Given the description of an element on the screen output the (x, y) to click on. 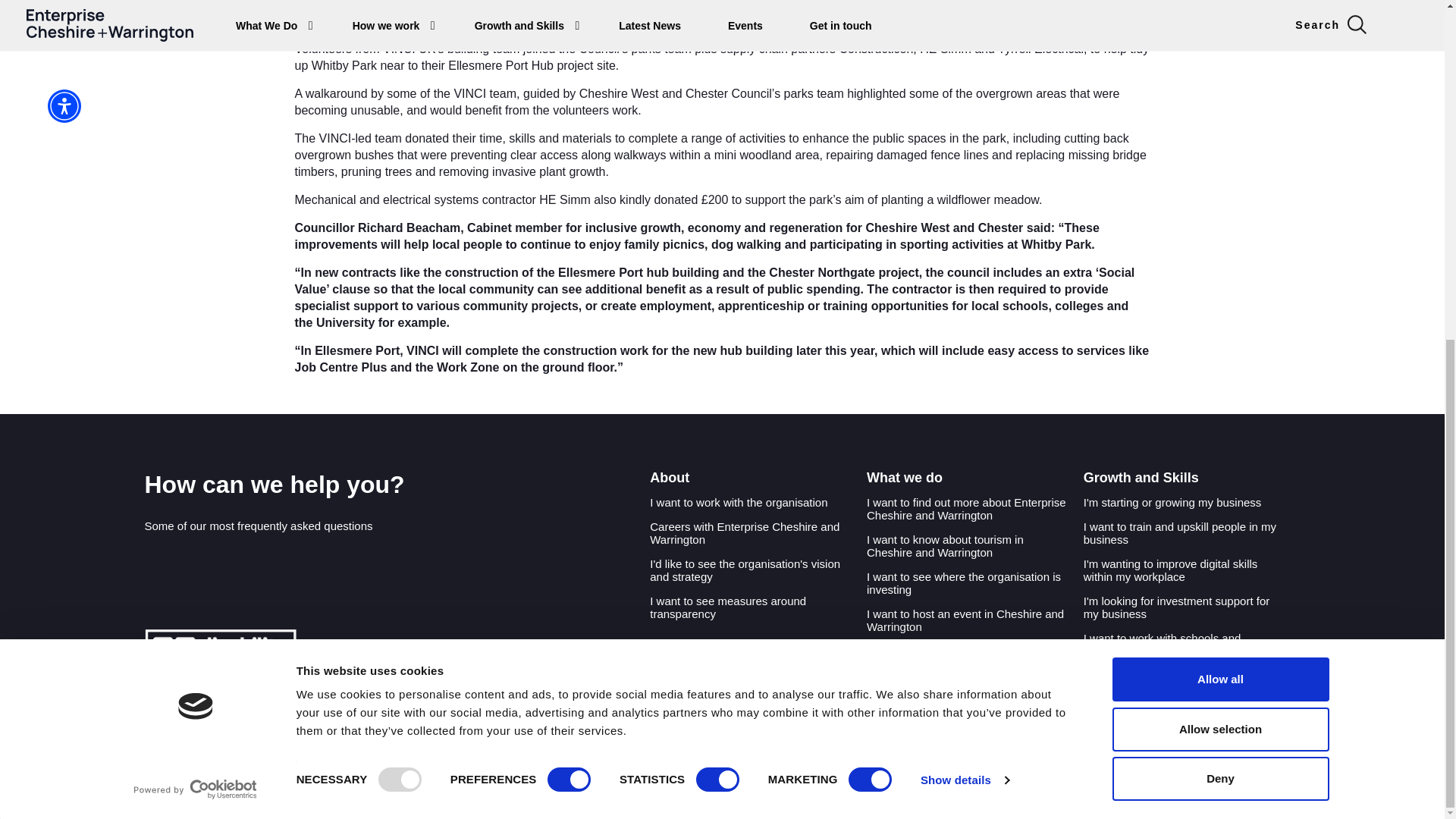
Careers (757, 533)
Tourism in Cheshire and Warrington Link (974, 545)
Measures and Transparency Link (757, 606)
Work with the LEP Link (746, 502)
Show details (964, 205)
Lep's Vision and Strategy Link (757, 570)
Deny (1219, 204)
Programmes Link (974, 508)
Allow selection (1219, 154)
